Given the description of an element on the screen output the (x, y) to click on. 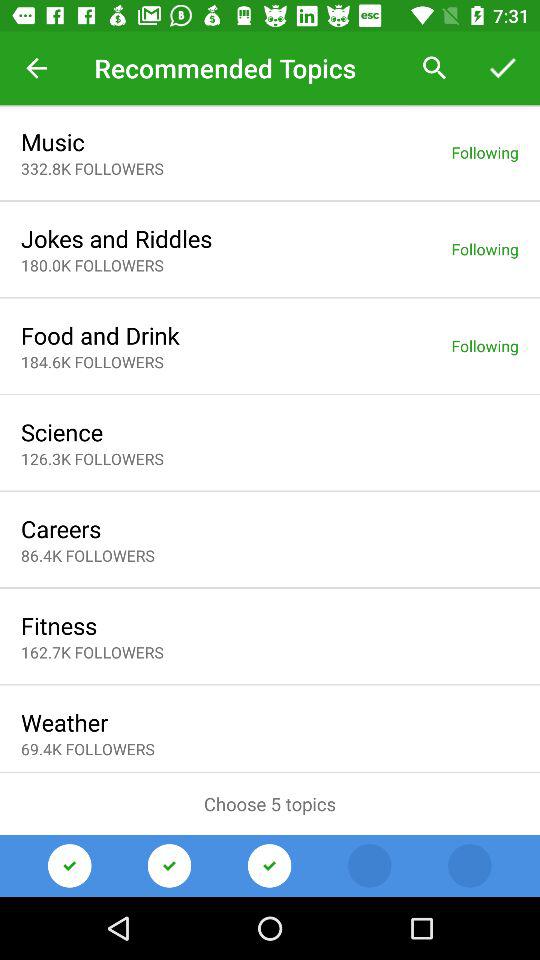
turn off app next to recommended topics icon (36, 68)
